Given the description of an element on the screen output the (x, y) to click on. 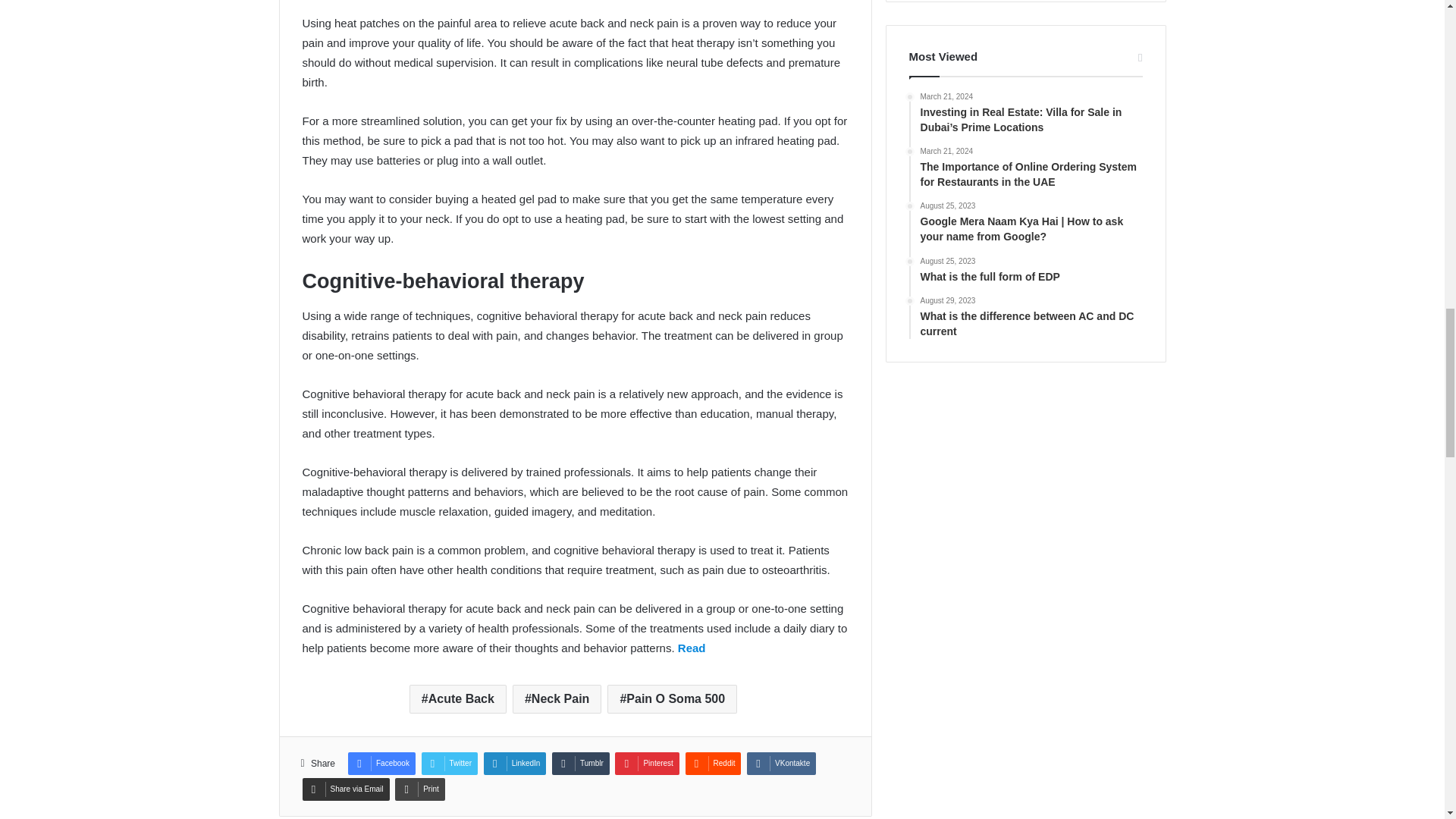
Read (692, 647)
